Given the description of an element on the screen output the (x, y) to click on. 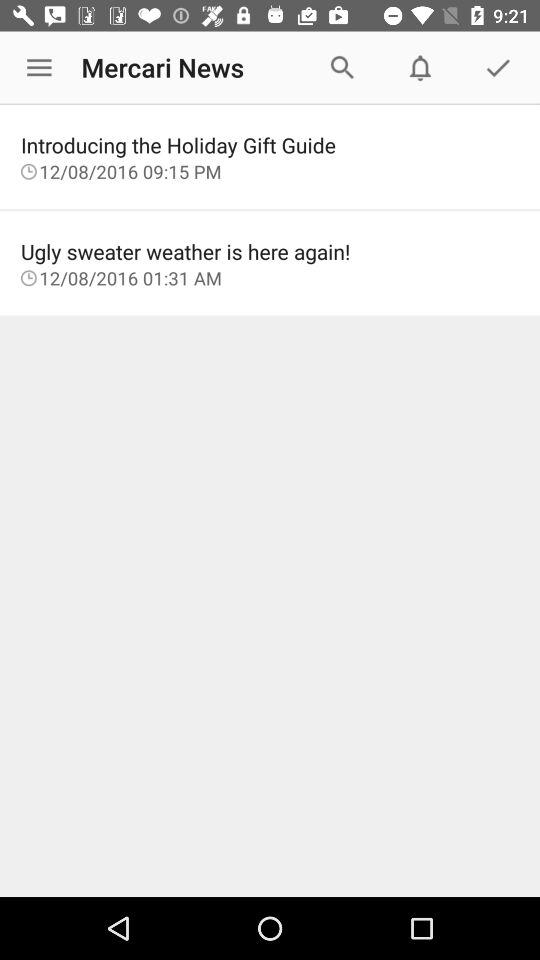
launch the introducing the holiday item (270, 144)
